Given the description of an element on the screen output the (x, y) to click on. 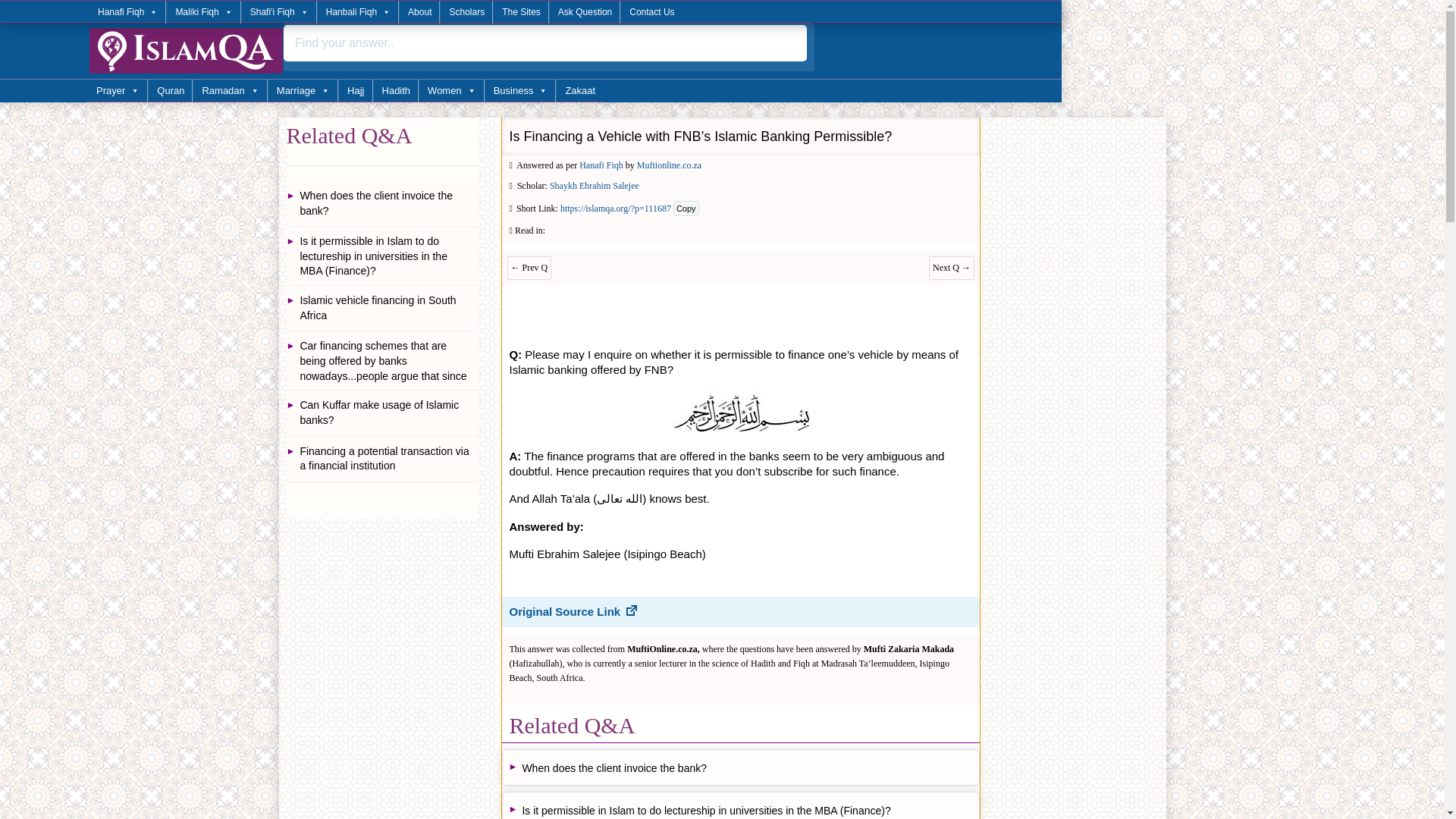
Maliki Fiqh (202, 11)
Shaykh Ebrahim Salejee (594, 185)
Hanafi Fiqh (126, 11)
